Given the description of an element on the screen output the (x, y) to click on. 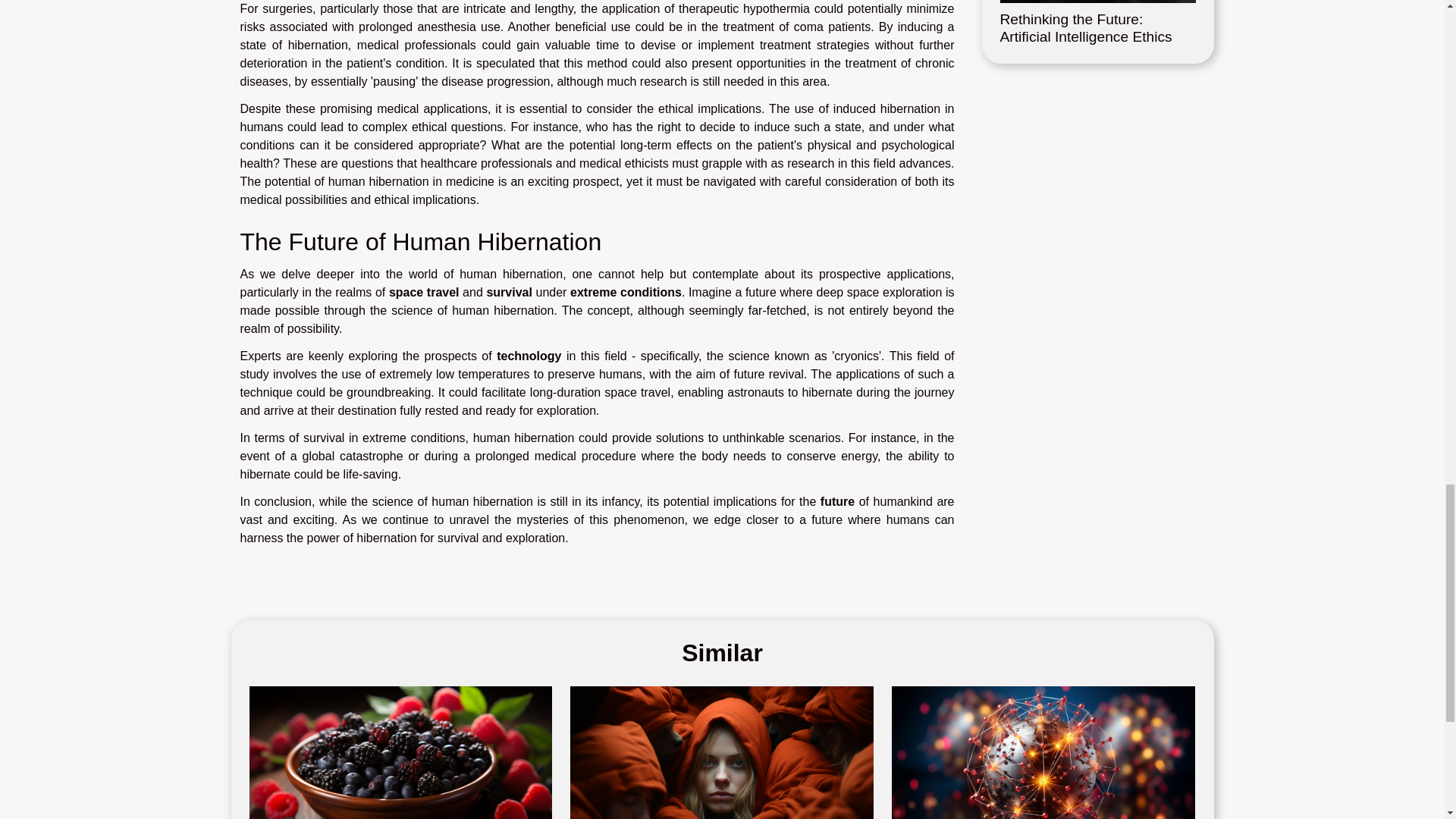
Rethinking the Future: Artificial Intelligence Ethics (1085, 28)
Unraveling the Mysteries of Human Hibernation (721, 771)
Nutrition Myths Busted: Unveiling the Truth About Superfoods (399, 771)
Rethinking the Future: Artificial Intelligence Ethics (1085, 28)
